Given the description of an element on the screen output the (x, y) to click on. 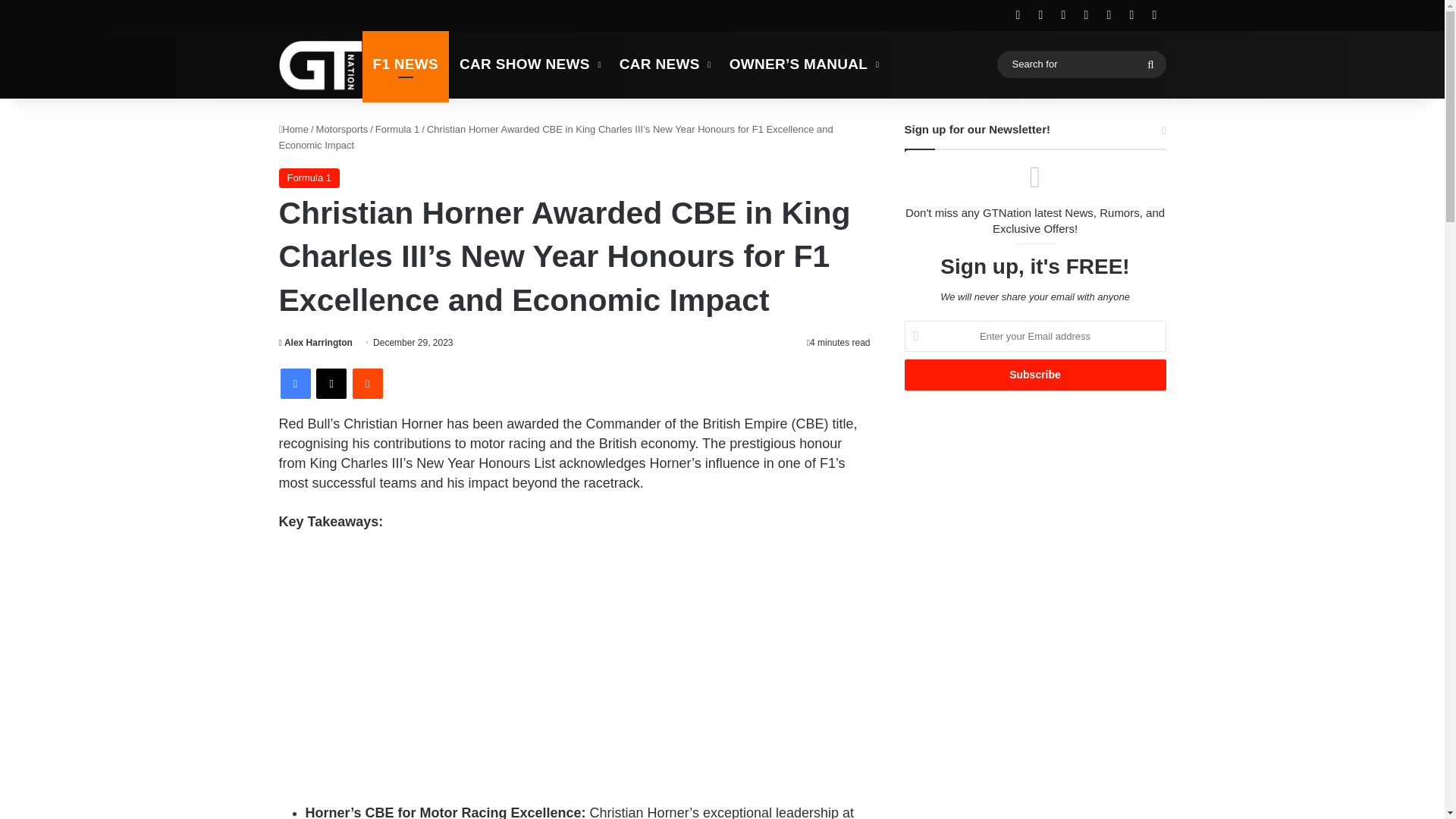
Subscribe (1035, 374)
Motorsports (341, 129)
X (330, 383)
Search for (1150, 63)
Formula 1 (309, 178)
CAR SHOW NEWS (528, 64)
Alex Harrington (315, 342)
Grand Tour Nation (320, 64)
CAR NEWS (663, 64)
Search for (1080, 63)
F1 NEWS (405, 64)
X (330, 383)
Facebook (296, 383)
Home (293, 129)
Reddit (367, 383)
